Given the description of an element on the screen output the (x, y) to click on. 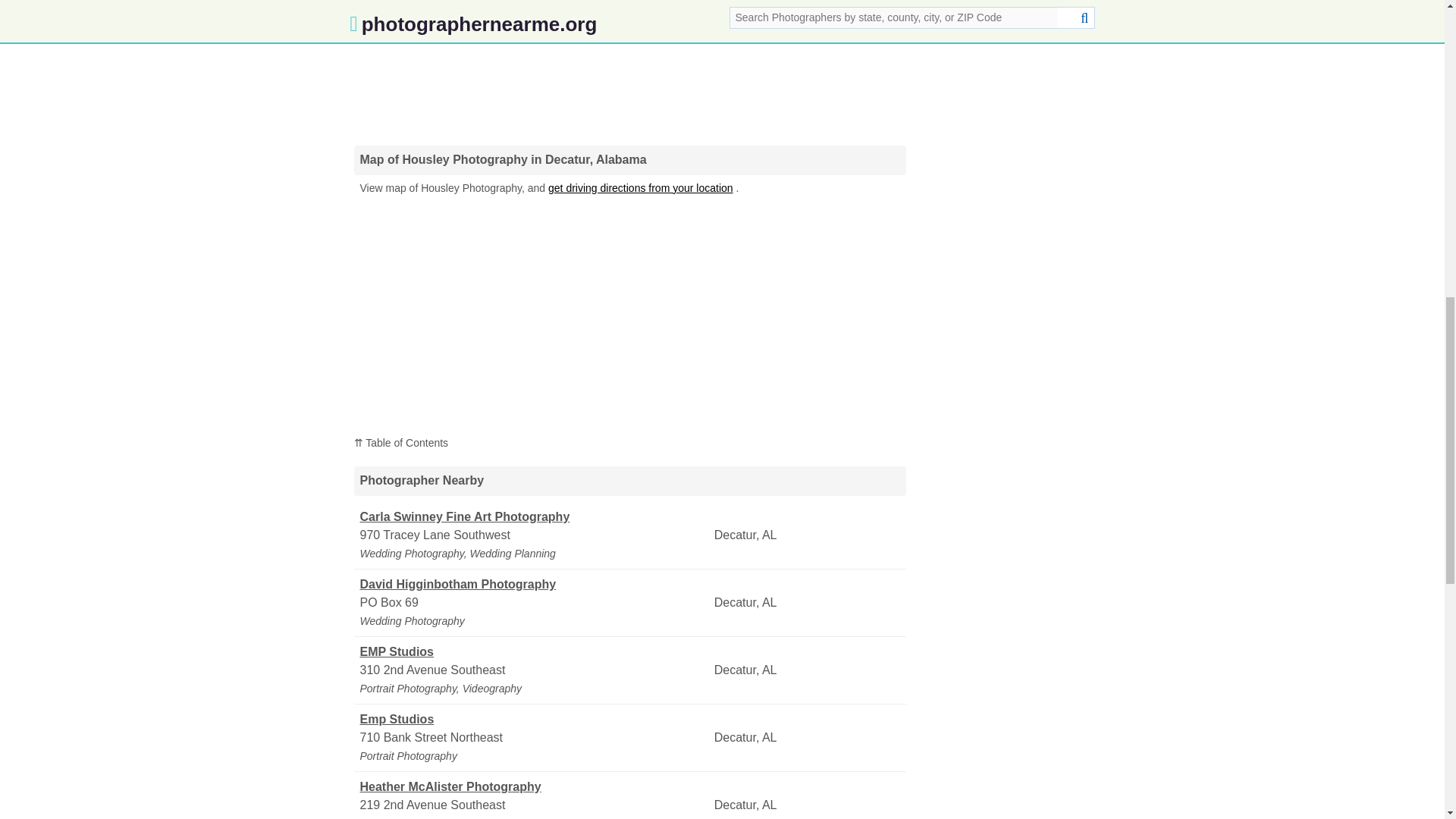
Carla Swinney Fine Art Photography (534, 516)
Emp Studios (534, 719)
EMP Studios (534, 651)
David Higginbotham Photography in Decatur, Alabama (534, 584)
Heather McAlister Photography (534, 787)
get driving directions from your location (640, 187)
Emp Studios in Decatur, Alabama (534, 719)
David Higginbotham Photography (534, 584)
Advertisement (629, 65)
Carla Swinney Fine Art Photography in Decatur, Alabama (534, 516)
EMP Studios in Decatur, Alabama (534, 651)
Heather McAlister Photography in Decatur, Alabama (534, 787)
